Given the description of an element on the screen output the (x, y) to click on. 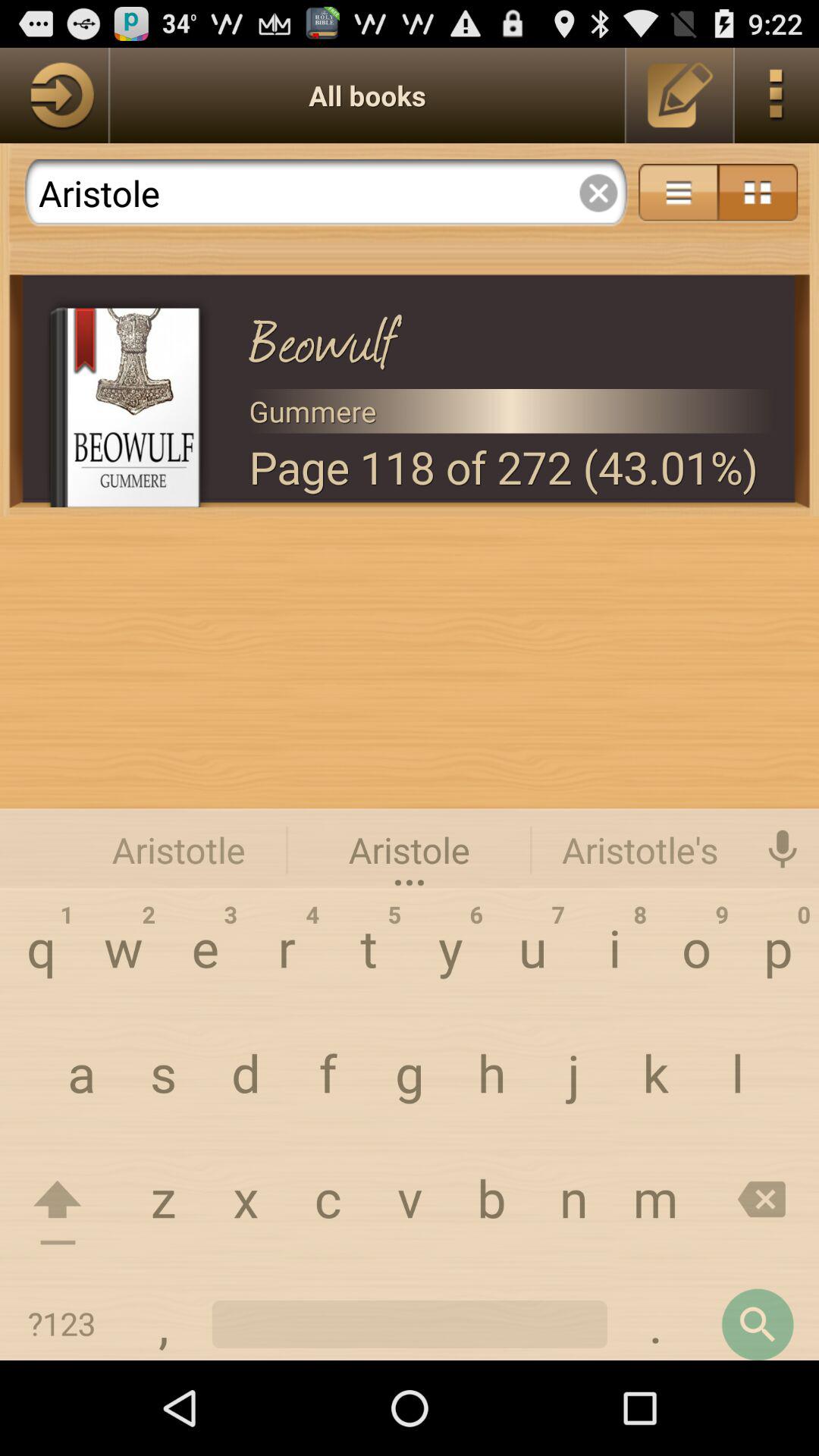
menu option (757, 192)
